Given the description of an element on the screen output the (x, y) to click on. 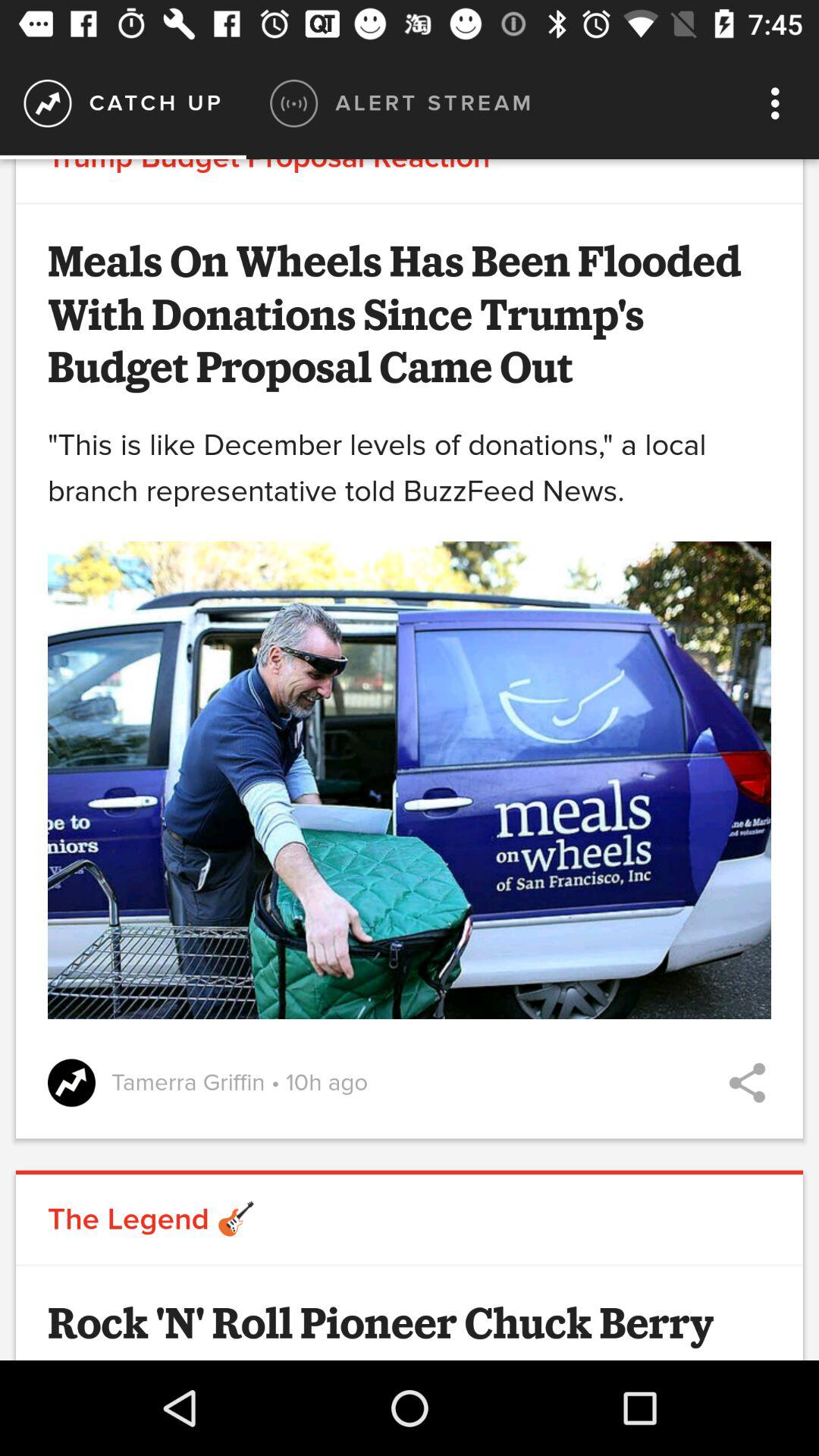
choose the item to the right of tamerra griffin 10h item (747, 1082)
